Given the description of an element on the screen output the (x, y) to click on. 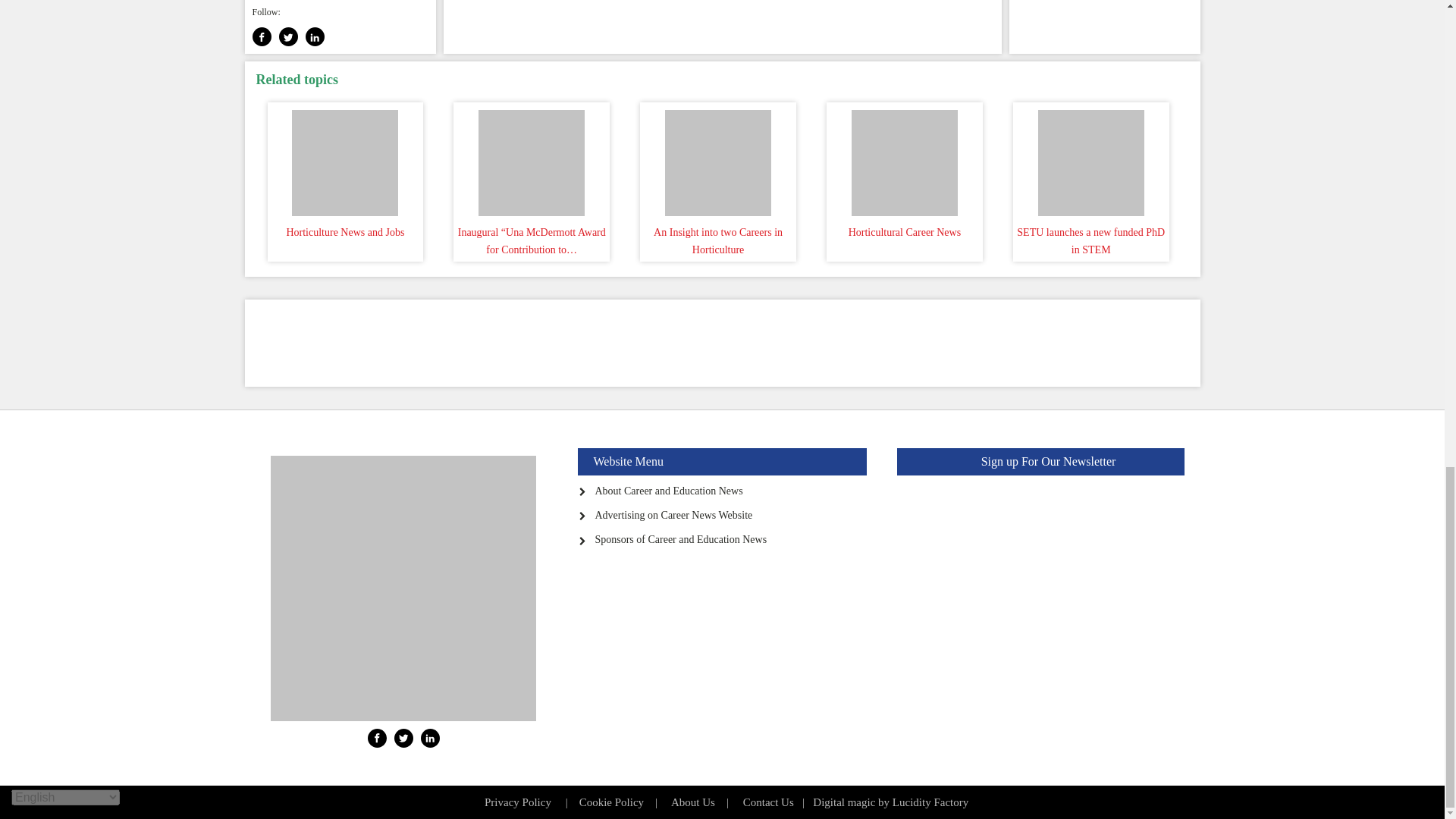
Horticultural Career News (903, 159)
SETU launches a new funded PhD in STEM (1091, 159)
An Insight into two Careers in Horticulture (717, 159)
Horticulture News and Jobs (345, 159)
